Given the description of an element on the screen output the (x, y) to click on. 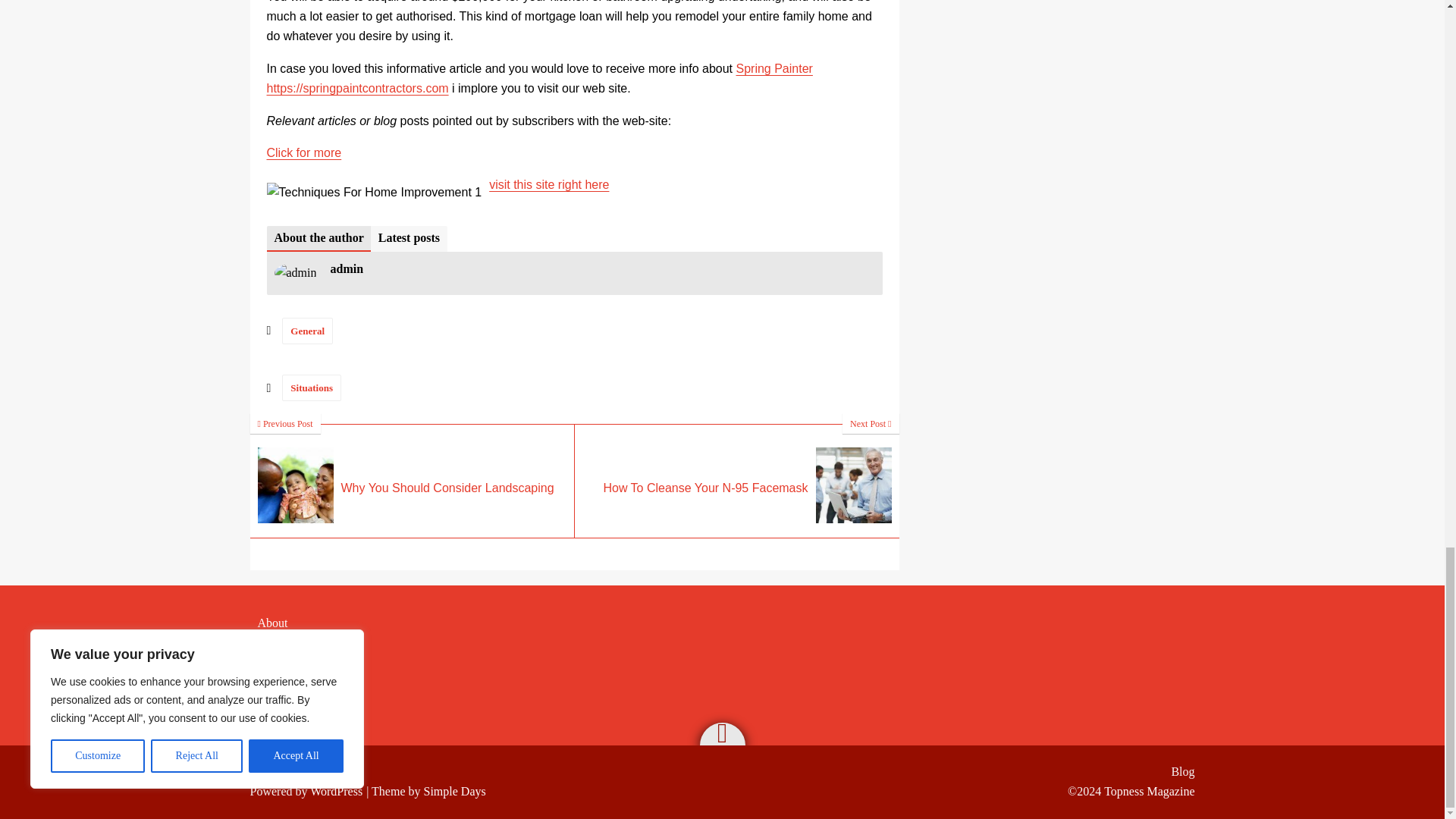
How To Cleanse Your N-95 Facemask (737, 480)
Situations (311, 387)
Click for more (304, 152)
visit this site right here (548, 184)
Why You Should Consider Landscaping (737, 480)
General (412, 480)
